Given the description of an element on the screen output the (x, y) to click on. 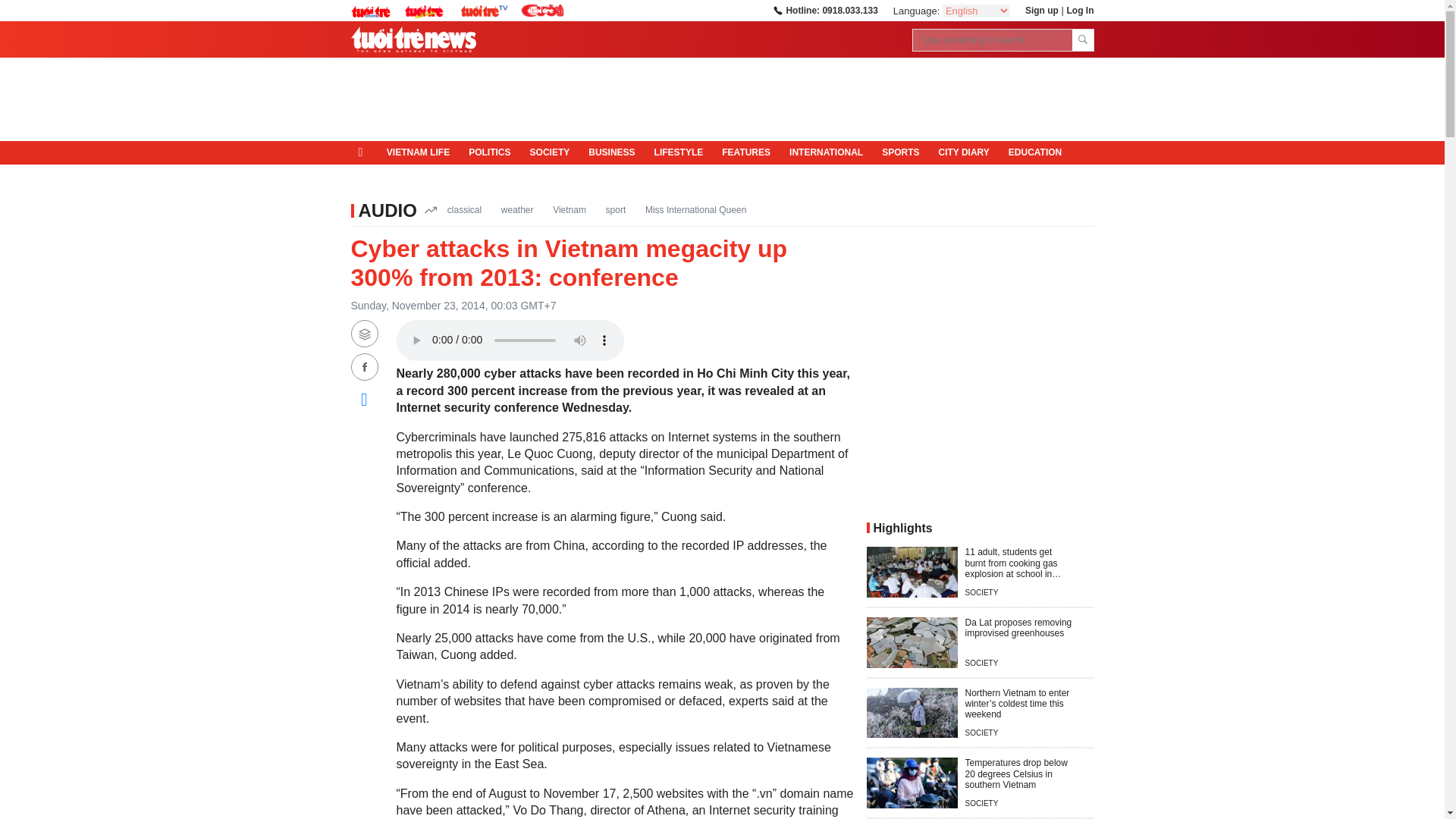
BUSINESS (612, 152)
Features (746, 152)
Politics (489, 152)
weather (517, 209)
Miss International Queen (695, 209)
FEATURES (746, 152)
home (363, 152)
SOCIETY (549, 152)
Log In (1079, 9)
Hot Line (824, 9)
